Given the description of an element on the screen output the (x, y) to click on. 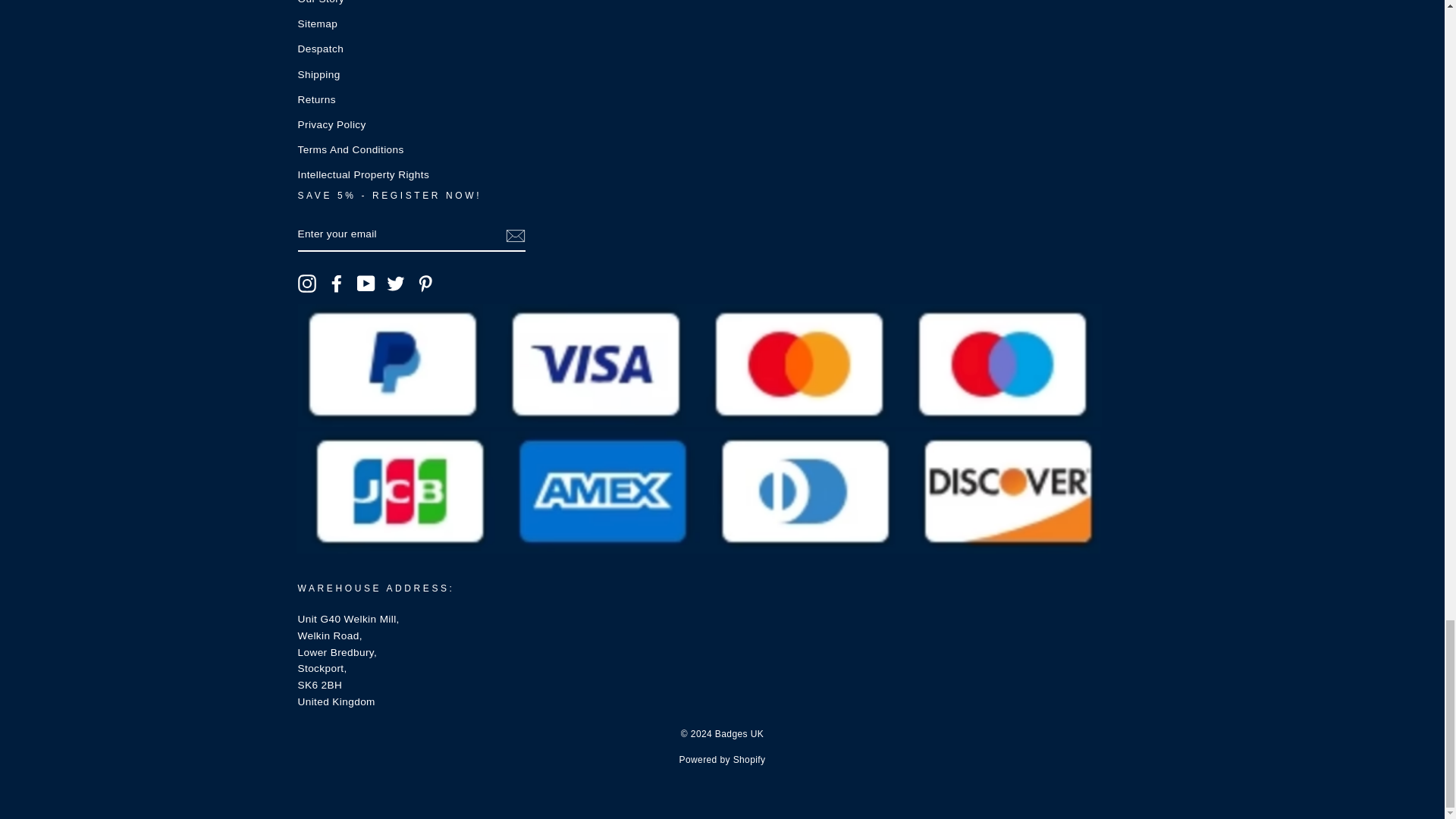
Badges UK on Pinterest (423, 283)
Badges UK on Instagram (306, 283)
Badges UK on YouTube (365, 283)
Badges UK on Facebook (336, 283)
Badges UK on Twitter (395, 283)
